Given the description of an element on the screen output the (x, y) to click on. 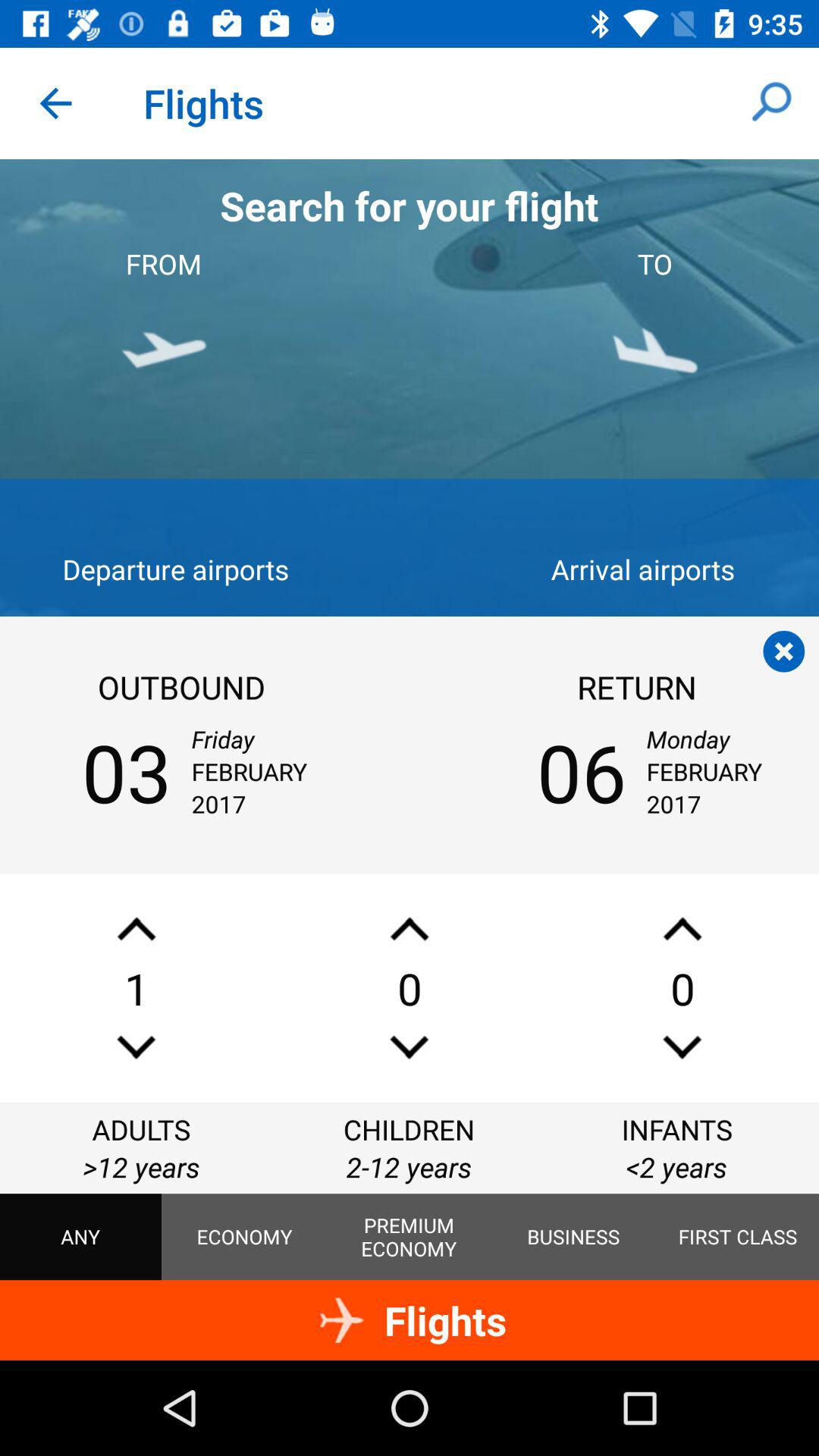
tap the item to the left of economy icon (80, 1236)
